Given the description of an element on the screen output the (x, y) to click on. 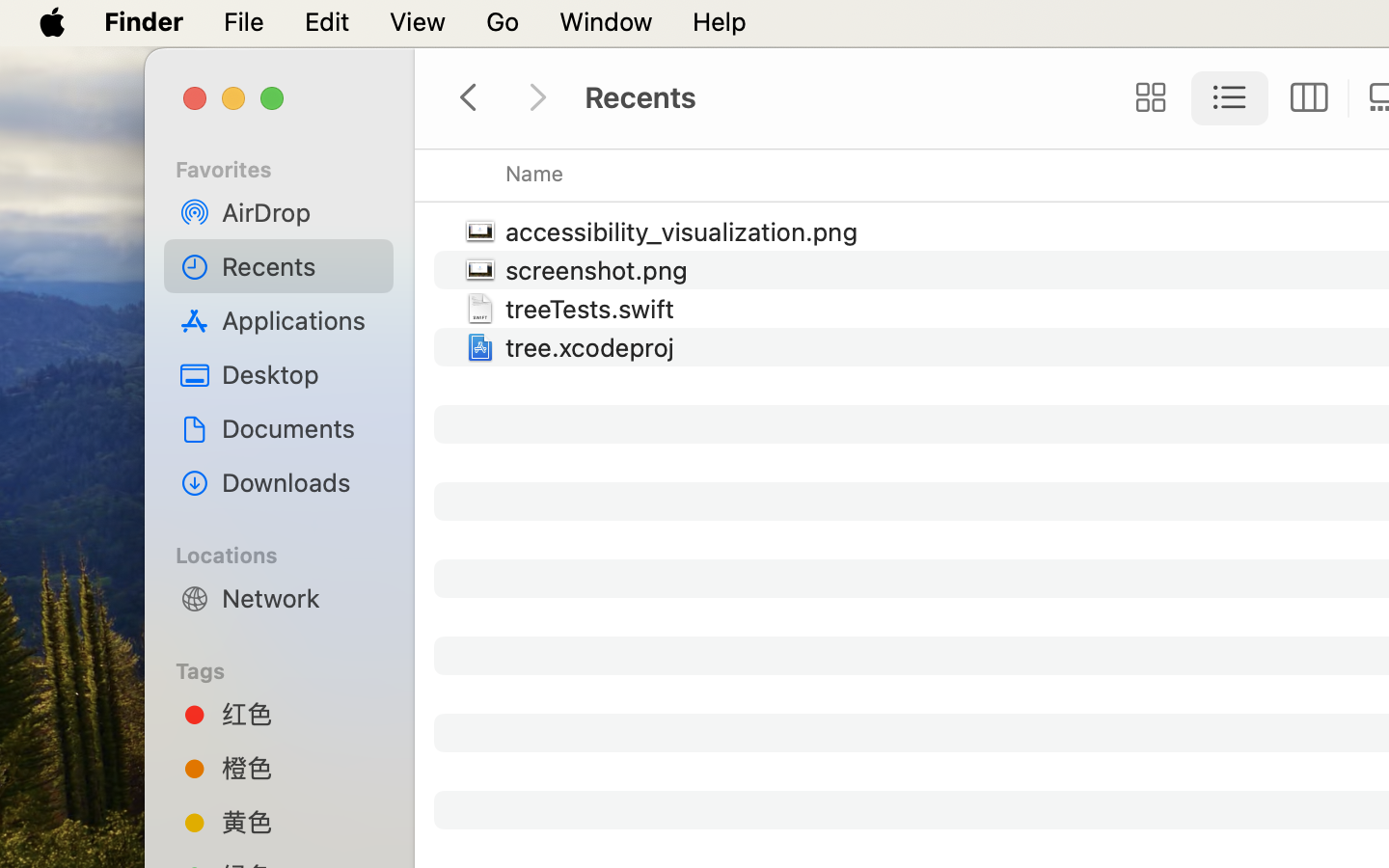
screenshot.png Element type: AXTextField (600, 269)
1 Element type: AXRadioButton (1229, 97)
Locations Element type: AXStaticText (289, 552)
Desktop Element type: AXStaticText (299, 373)
Favorites Element type: AXStaticText (289, 166)
